Given the description of an element on the screen output the (x, y) to click on. 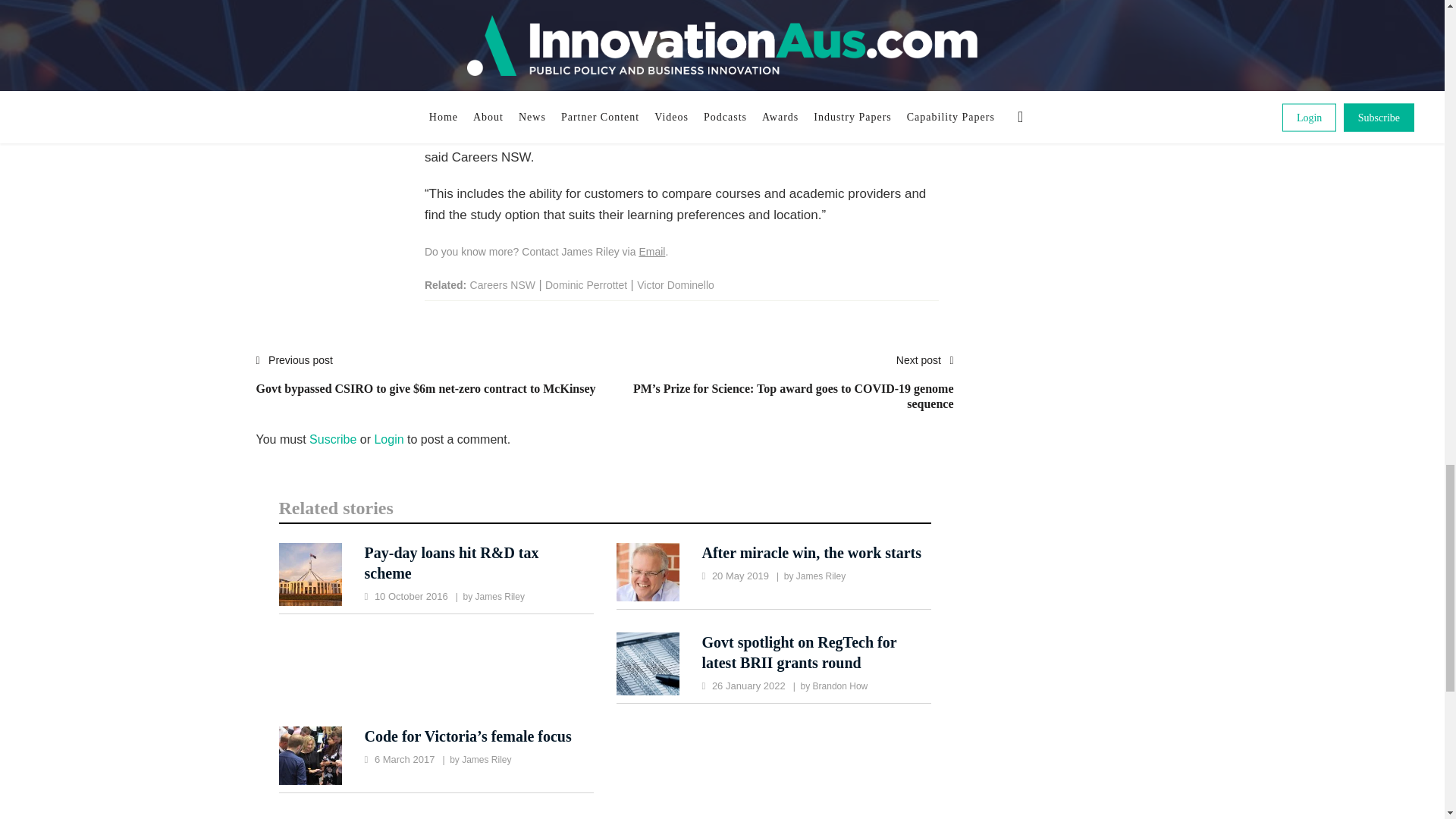
next post (779, 389)
prev post (425, 382)
